Given the description of an element on the screen output the (x, y) to click on. 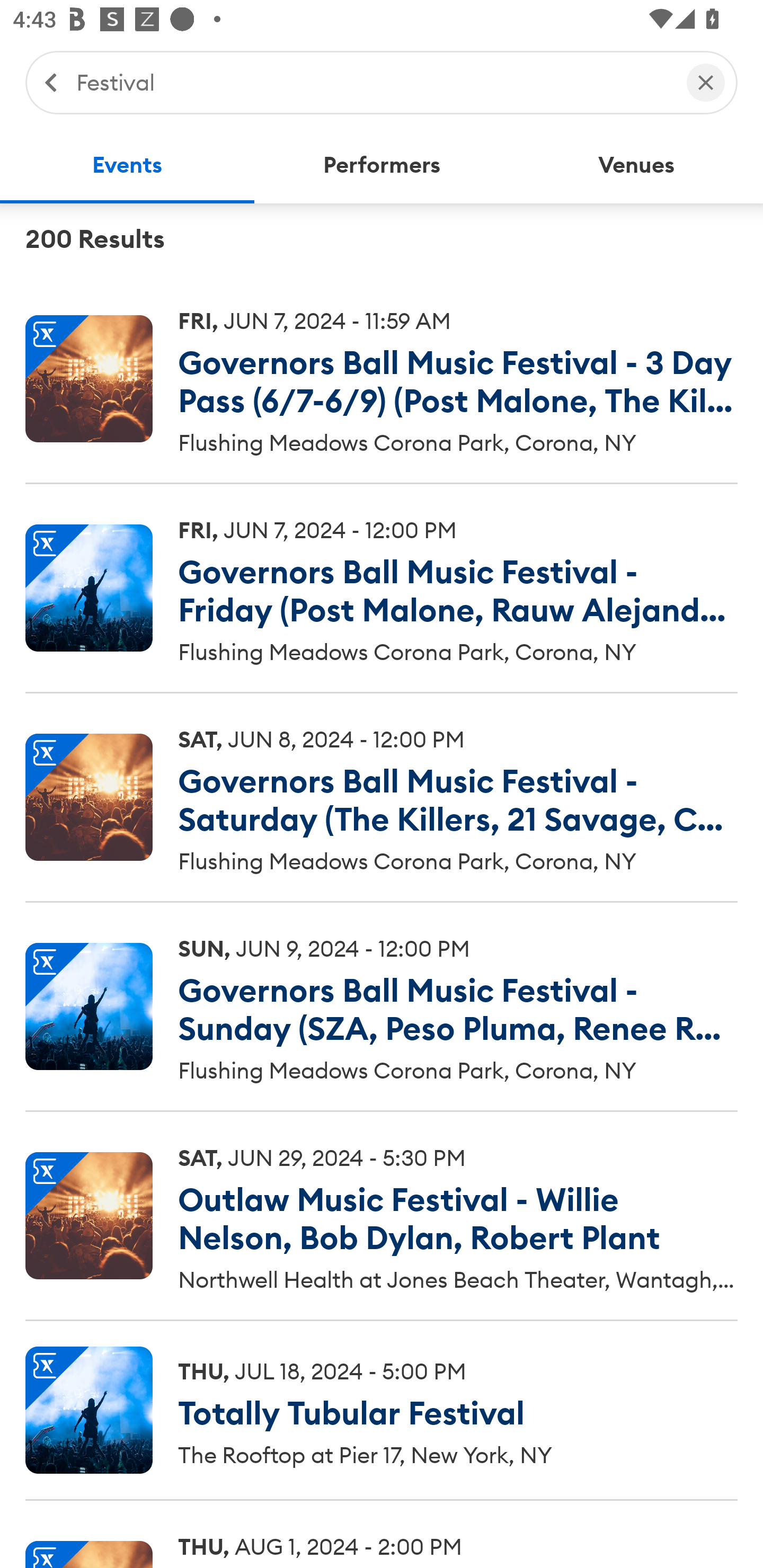
Festival (371, 81)
Clear Search (705, 81)
Performers (381, 165)
Venues (635, 165)
